Given the description of an element on the screen output the (x, y) to click on. 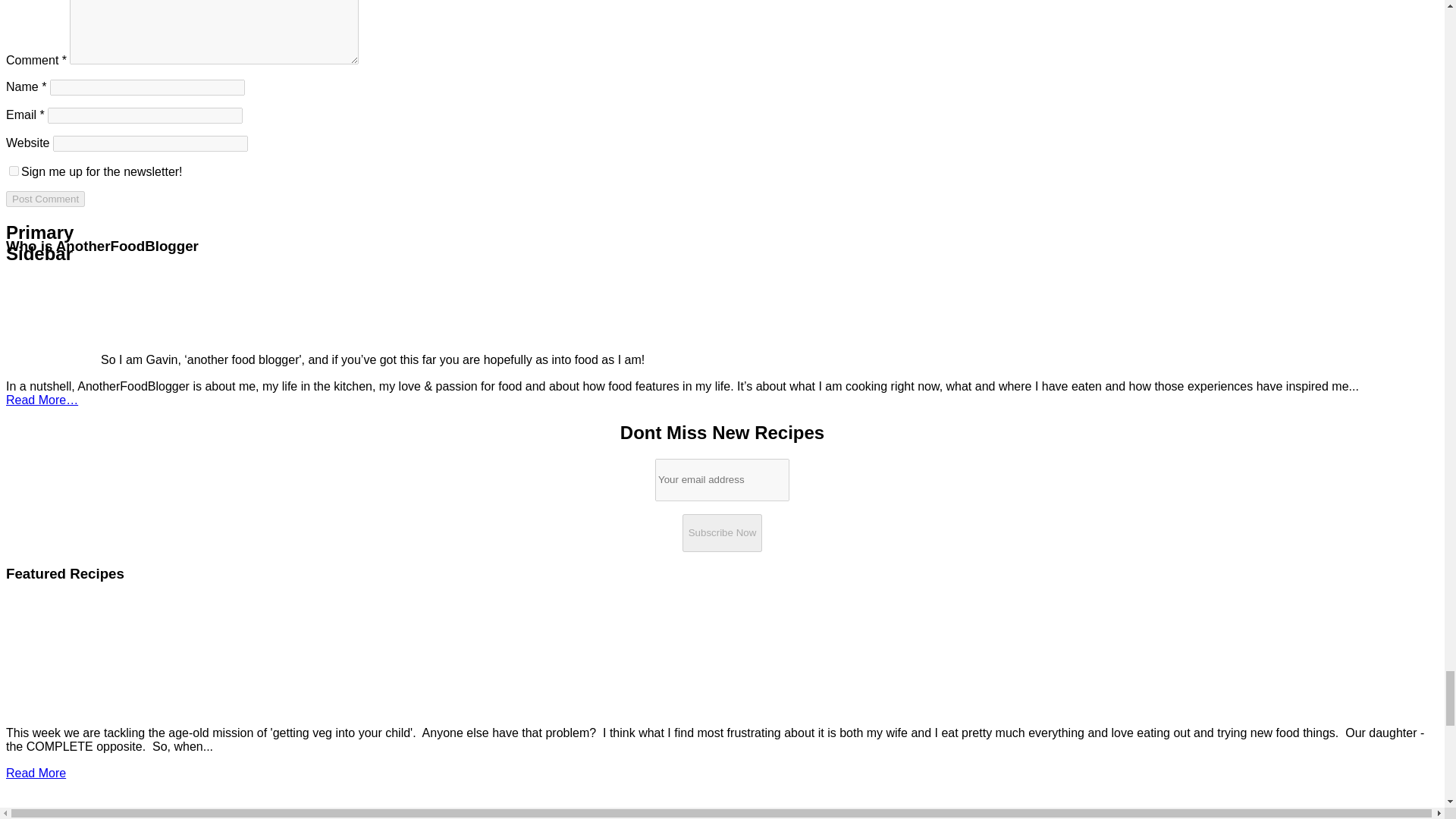
Post Comment (44, 198)
1 (13, 171)
Subscribe Now (722, 533)
Vegetable Bolognese (62, 706)
